Given the description of an element on the screen output the (x, y) to click on. 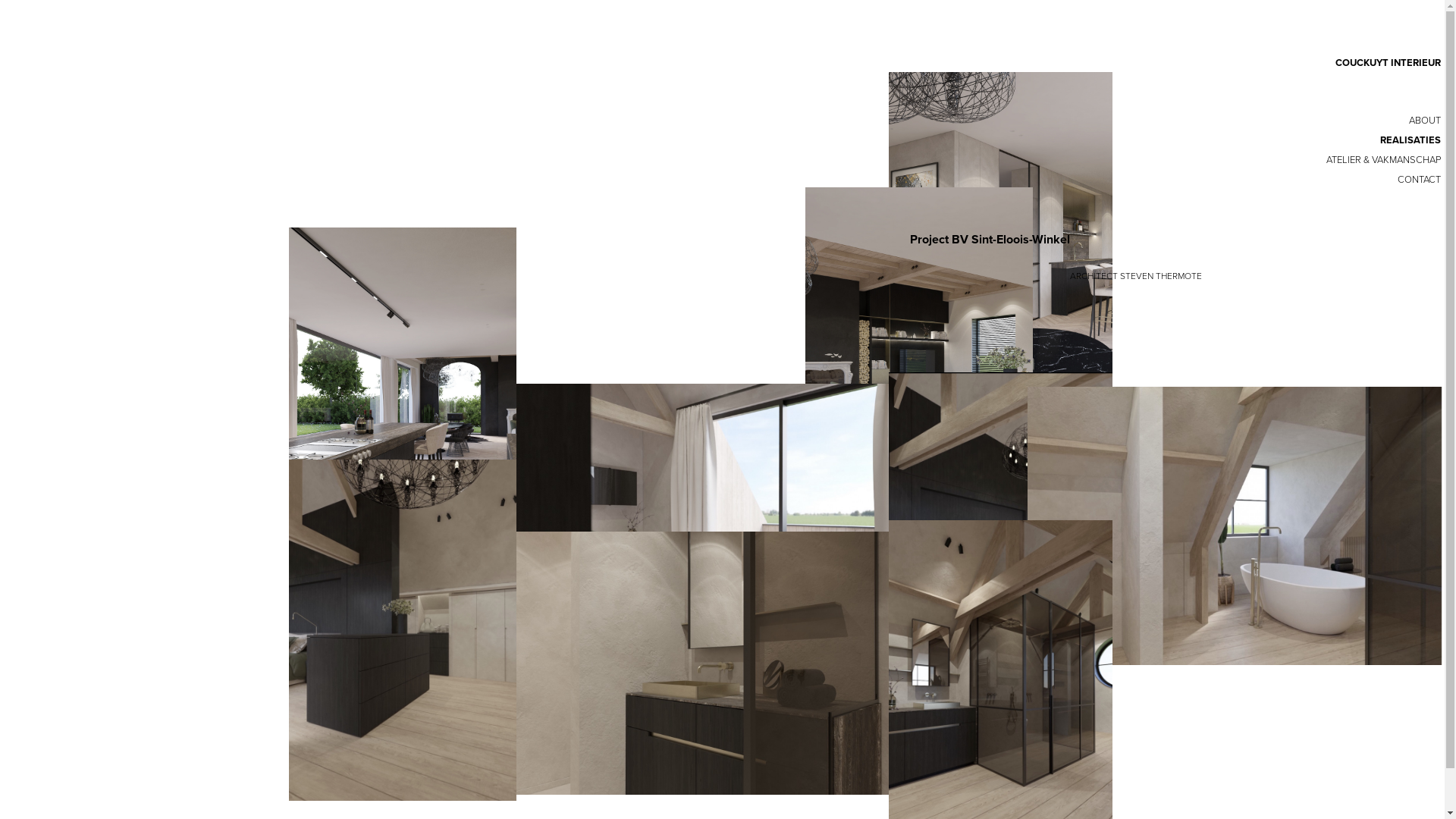
ABOUT Element type: text (737, 120)
COUCKUYT INTERIEUR Element type: text (737, 62)
REALISATIES Element type: text (737, 140)
CONTACT Element type: text (737, 179)
ATELIER & VAKMANSCHAP Element type: text (737, 159)
